Given the description of an element on the screen output the (x, y) to click on. 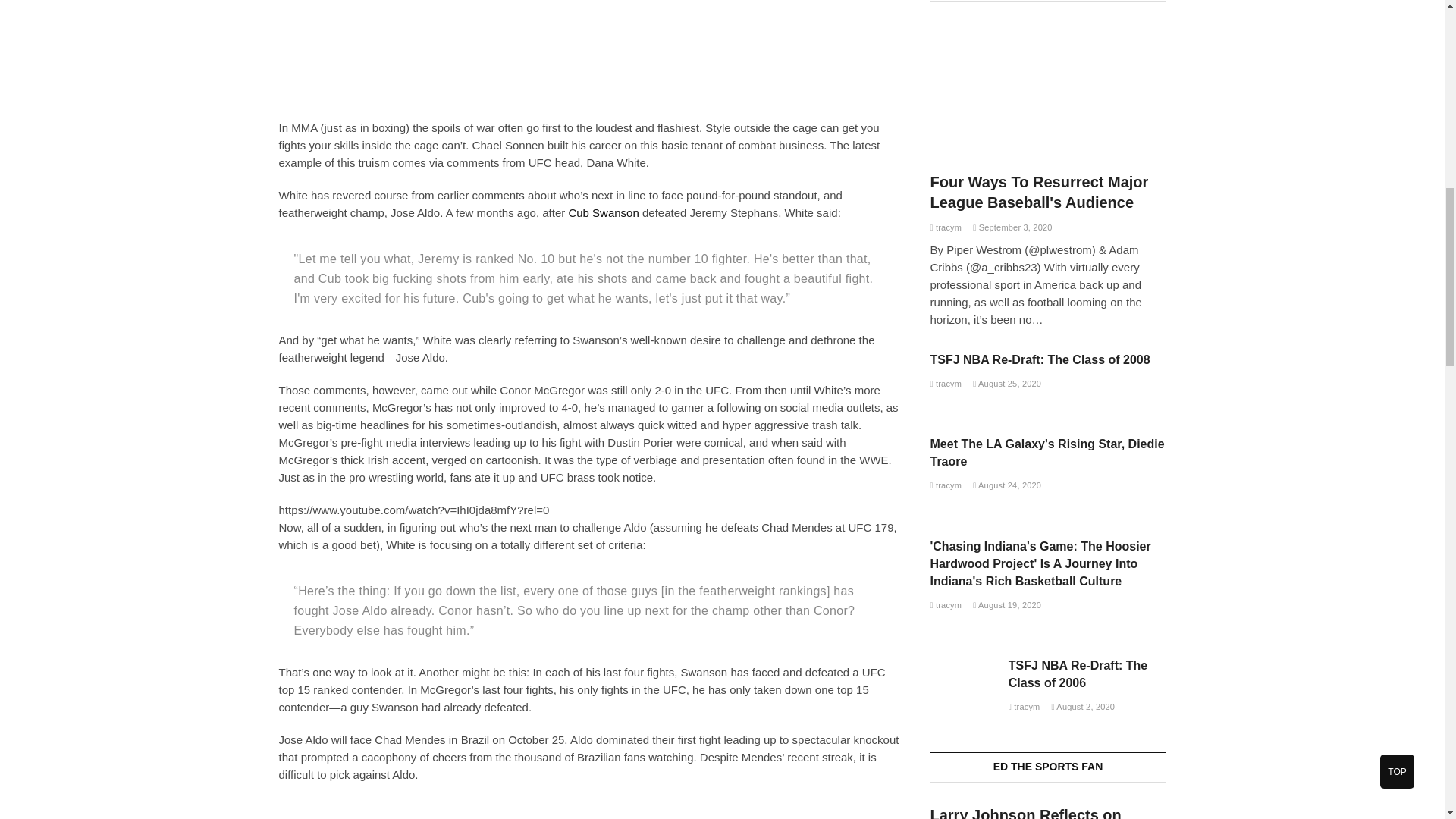
Four Ways To Resurrect Major League Baseball's Audience (1039, 191)
TSFJ NBA Re-Draft: The Class of 2008 (1040, 359)
September 3, 2020 (1011, 226)
Four Ways To Resurrect Major League Baseball's Audience (945, 226)
Cub Swanson Is Giving Back (603, 212)
Four Ways To Resurrect Major League Baseball's Audience (1048, 90)
